Given the description of an element on the screen output the (x, y) to click on. 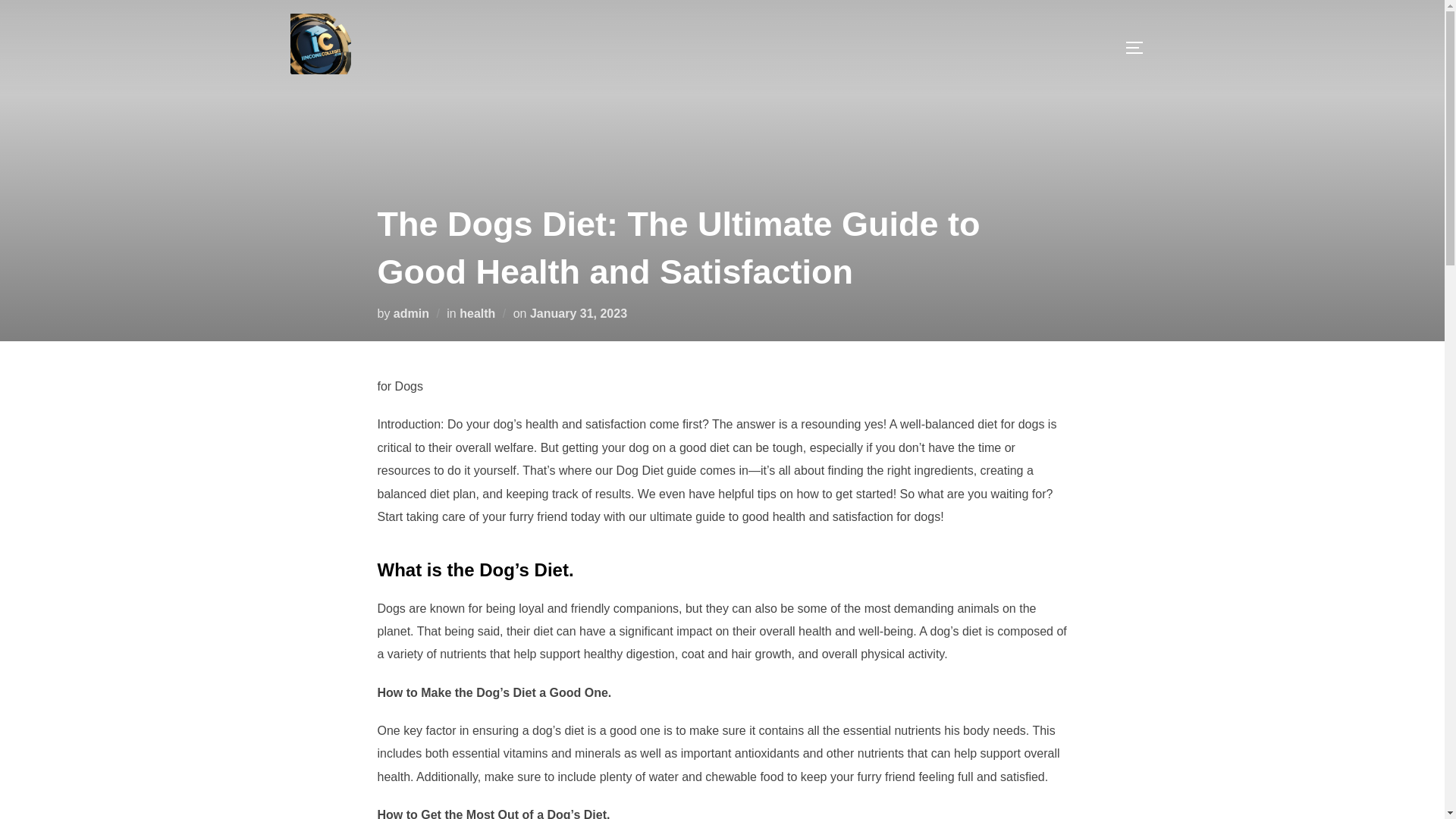
admin (411, 312)
health (477, 312)
January 31, 2023 (578, 312)
